Given the description of an element on the screen output the (x, y) to click on. 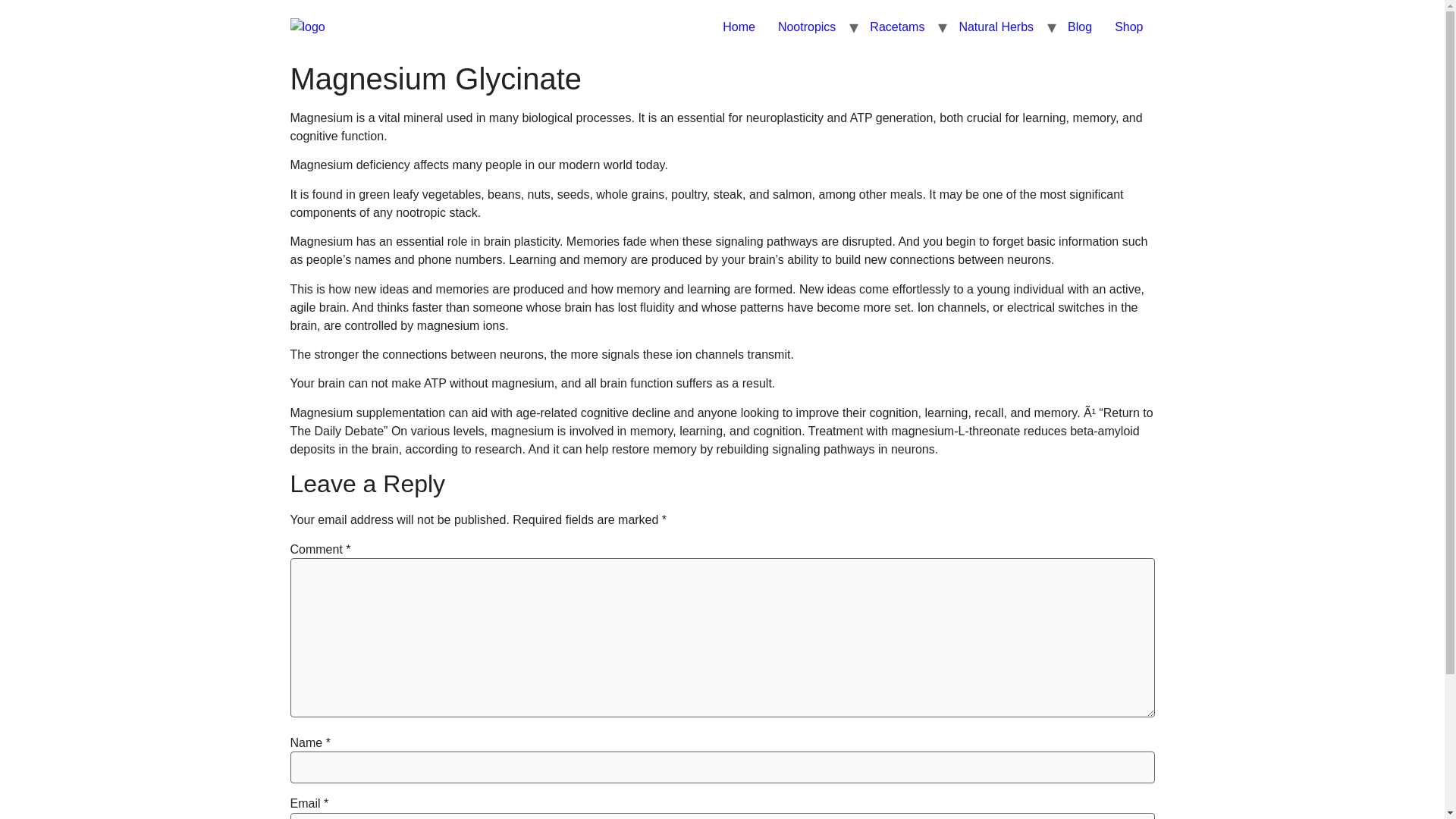
Racetams (897, 27)
Home (739, 27)
Nootropics (807, 27)
Natural Herbs (996, 27)
